Given the description of an element on the screen output the (x, y) to click on. 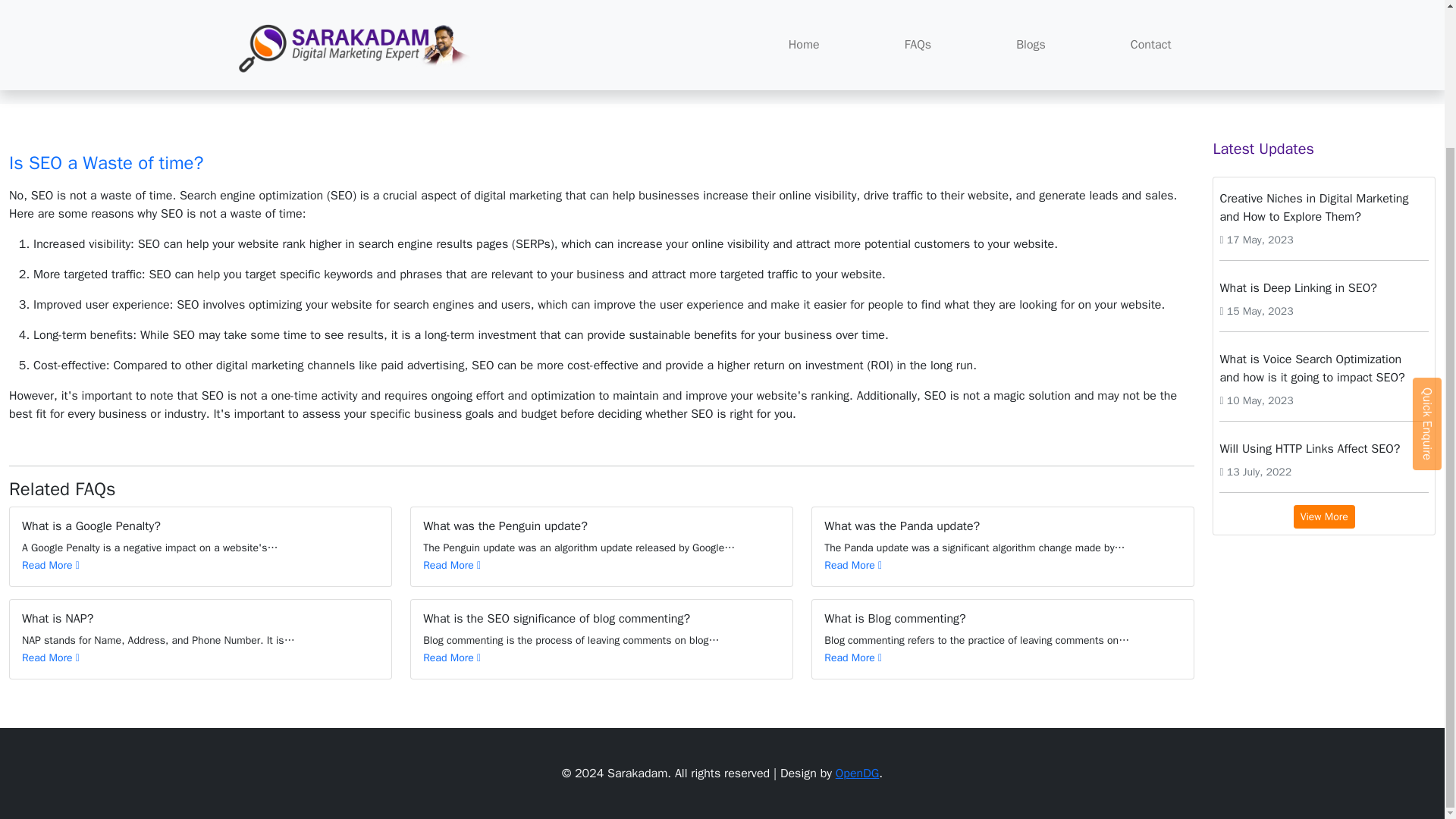
Home (246, 82)
Read More (50, 657)
Read More (451, 564)
View More (1324, 516)
What is Deep Linking in SEO? (1324, 287)
OpenDG (857, 773)
Read More (853, 657)
Read More (50, 564)
Will Using HTTP Links Affect SEO? (1324, 449)
Read More (853, 564)
Read More (451, 657)
FAQ (291, 82)
